Given the description of an element on the screen output the (x, y) to click on. 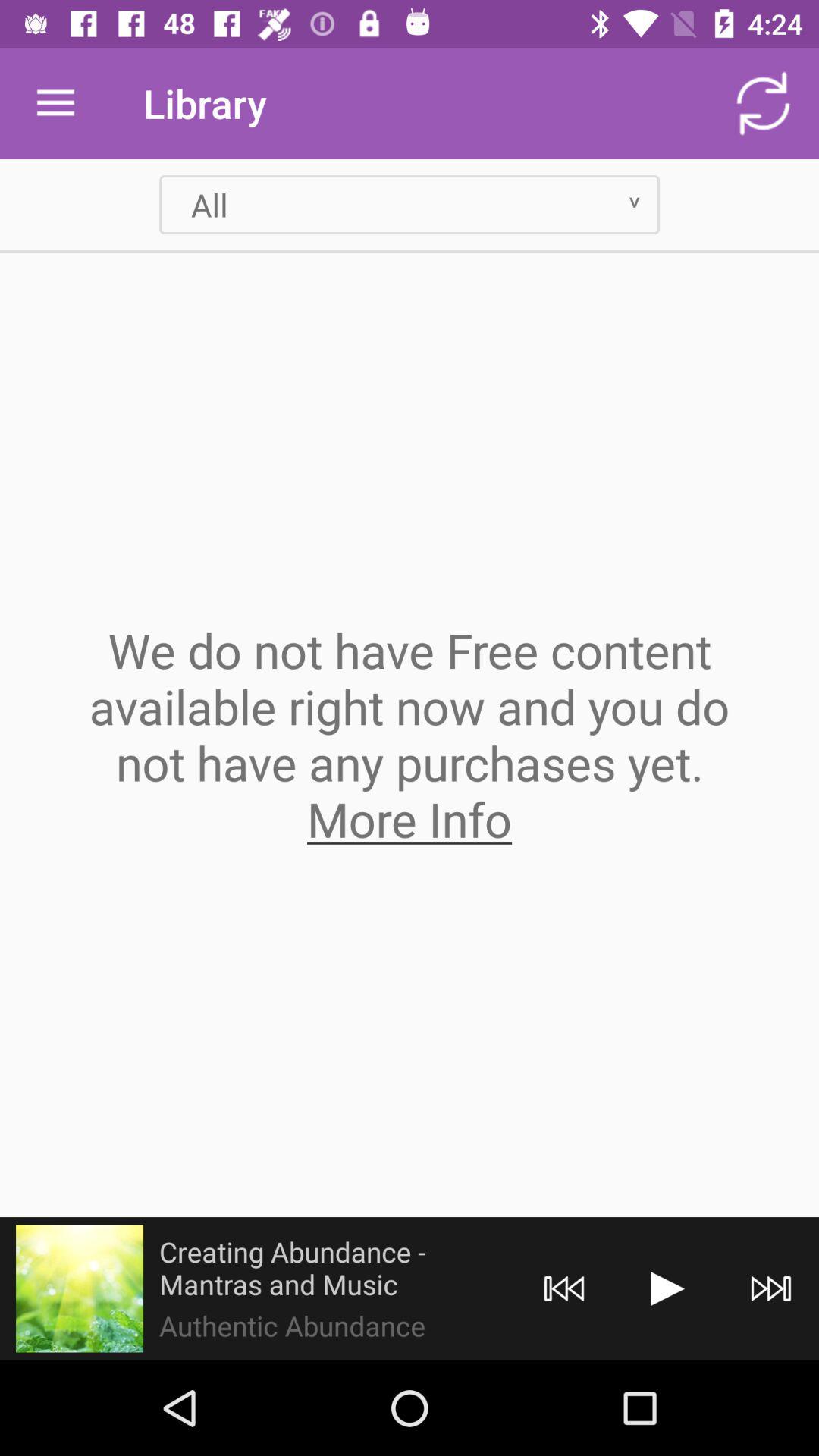
play the music (667, 1288)
